Given the description of an element on the screen output the (x, y) to click on. 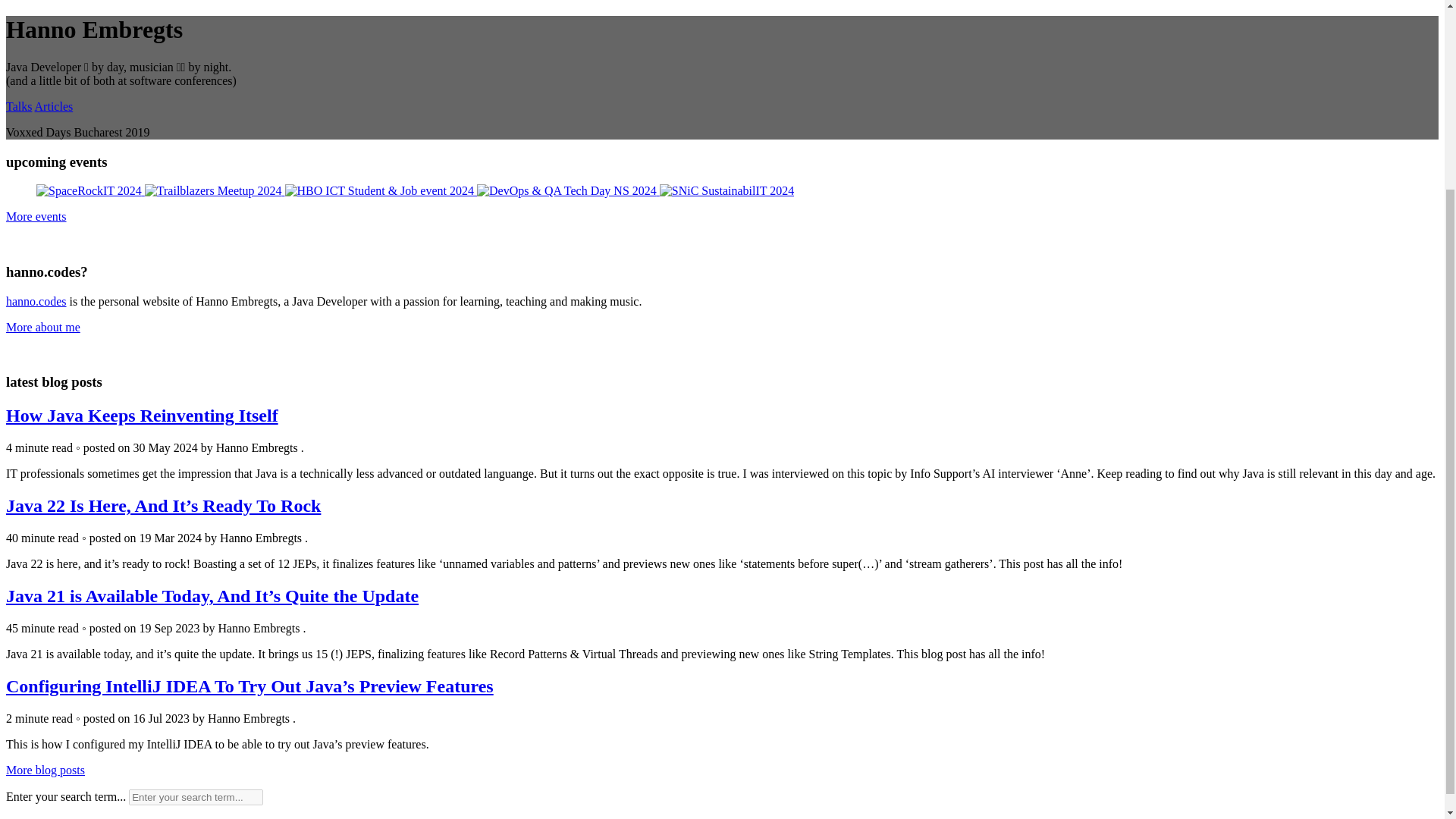
Talks (18, 106)
How Java Keeps Reinventing Itself (141, 415)
Articles (54, 106)
hanno.codes (35, 300)
More events (35, 215)
More about me (42, 327)
